Given the description of an element on the screen output the (x, y) to click on. 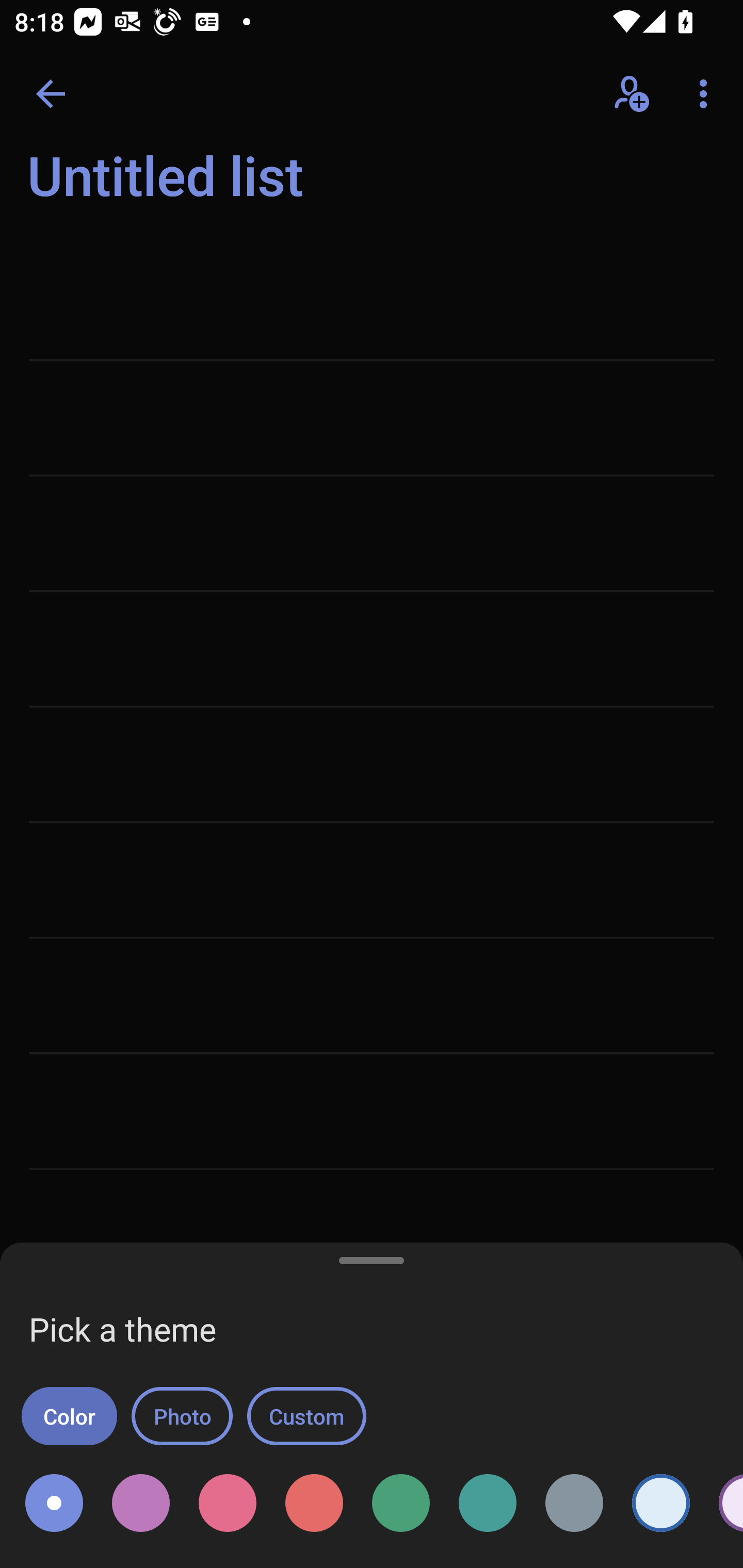
Color Color category (69, 1416)
Photo Photo category (181, 1416)
Custom Custom category (306, 1416)
Selected, Dark blue (54, 1502)
Dark purple (140, 1502)
Dark rose (227, 1502)
Dark red (314, 1502)
Dark green (400, 1502)
Dark teal (487, 1502)
Dark grey (574, 1502)
Light blue (660, 1502)
